Given the description of an element on the screen output the (x, y) to click on. 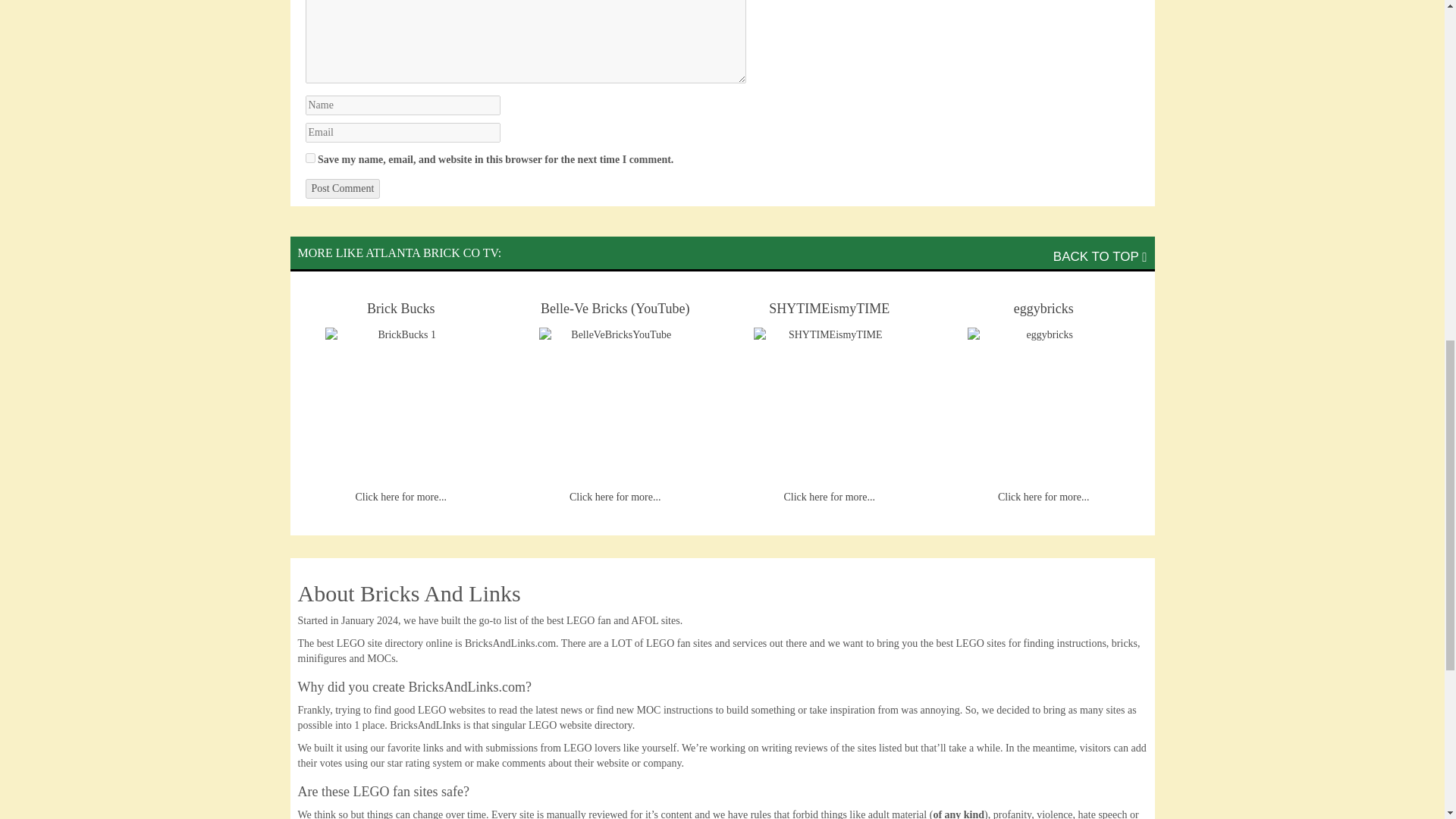
SHYTIMEismyTIME (829, 309)
Click here for more... (615, 496)
eggybricks 4 (1043, 403)
Click here for more... (1043, 496)
SHYTIMEismyTIME 3 (829, 403)
Post Comment (342, 189)
Brick Bucks (400, 309)
yes (309, 157)
Post Comment (342, 189)
Click here for more... (829, 496)
